Given the description of an element on the screen output the (x, y) to click on. 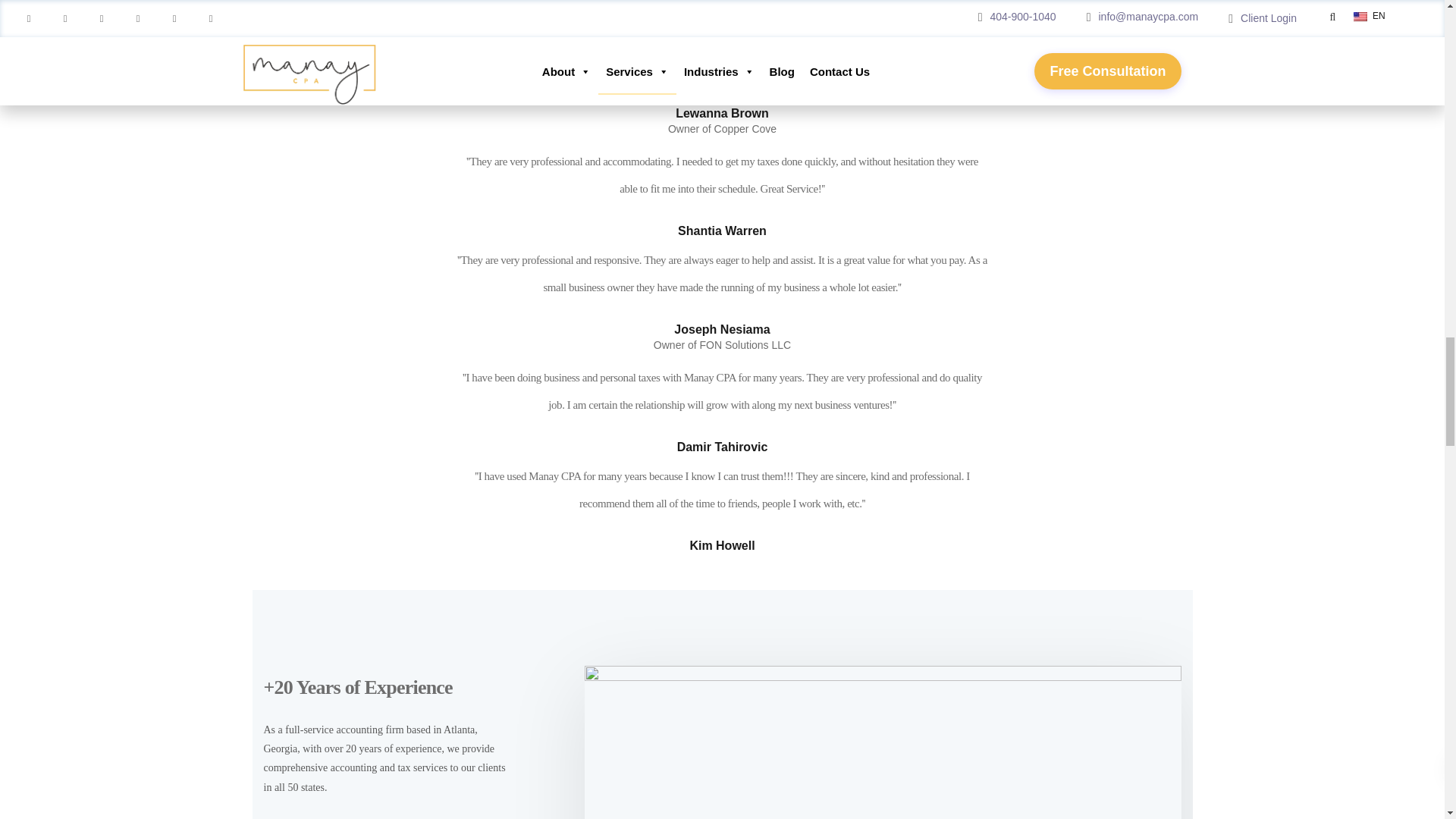
20 Yillik Tecrube (882, 742)
